Given the description of an element on the screen output the (x, y) to click on. 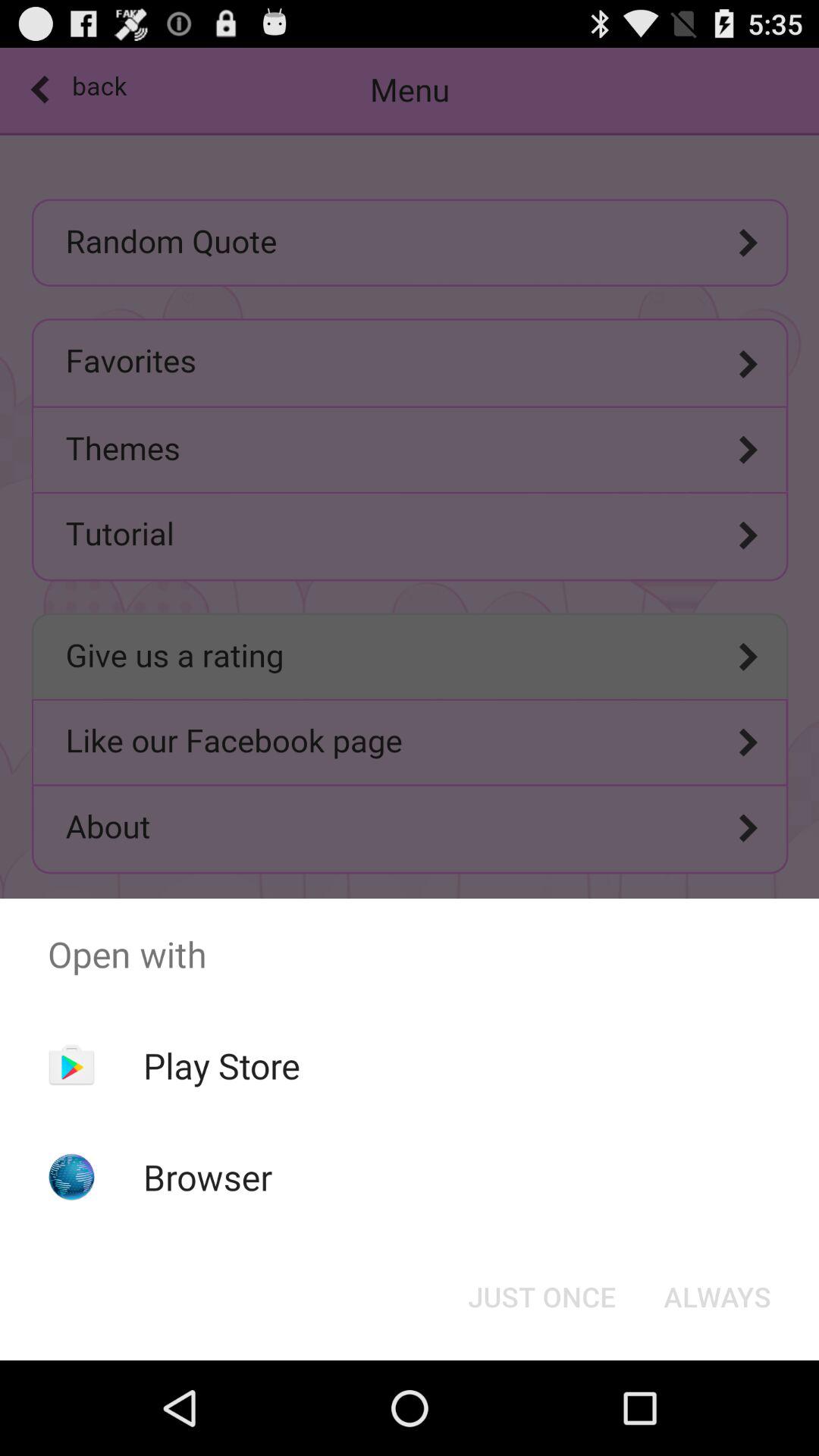
turn off item to the right of the just once item (717, 1296)
